Given the description of an element on the screen output the (x, y) to click on. 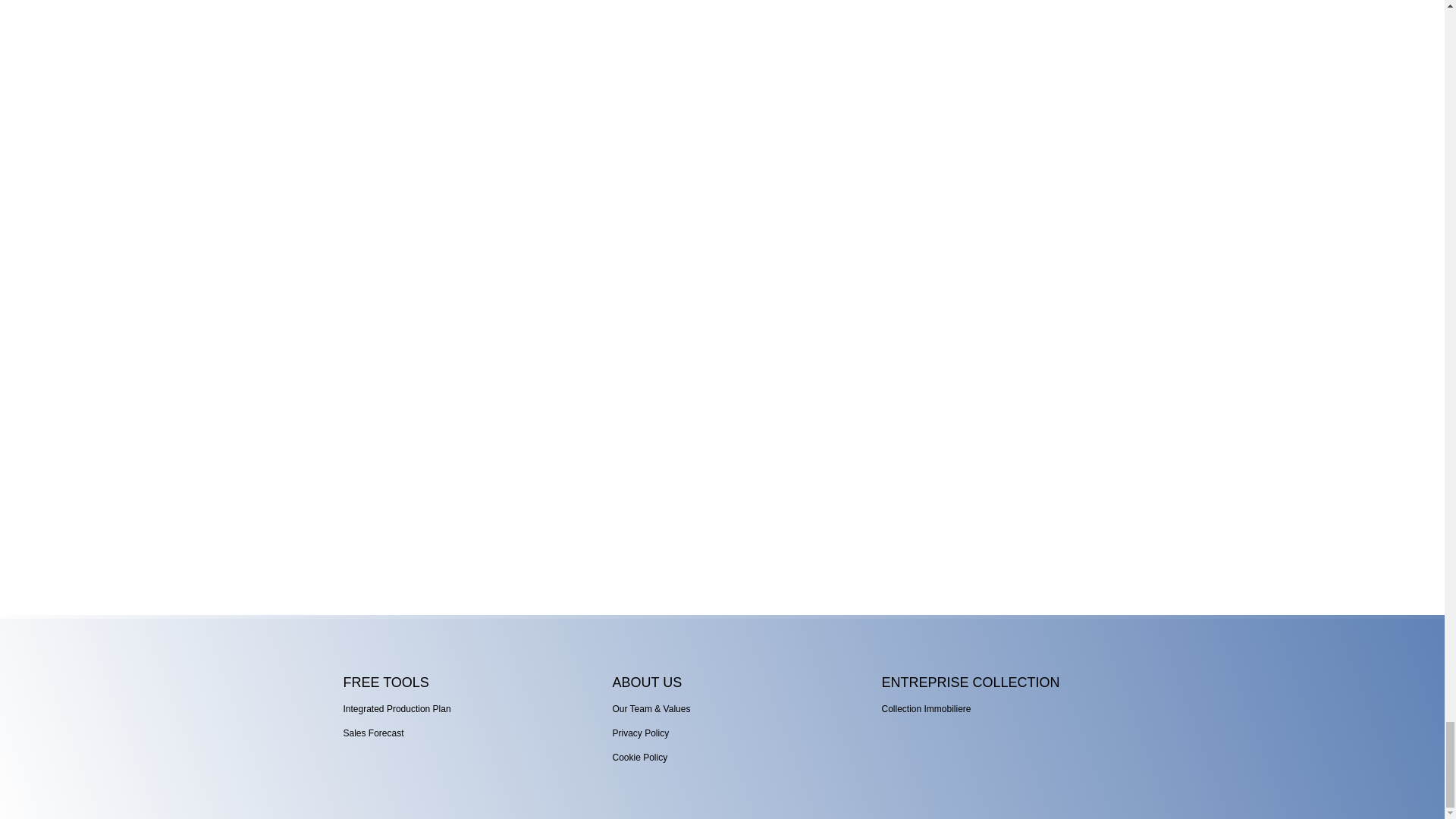
Collection Immobiliere (925, 708)
Integrated Production Plan (395, 708)
Privacy Policy (639, 733)
Sales Forecast (372, 733)
Cookie Policy (638, 757)
